Given the description of an element on the screen output the (x, y) to click on. 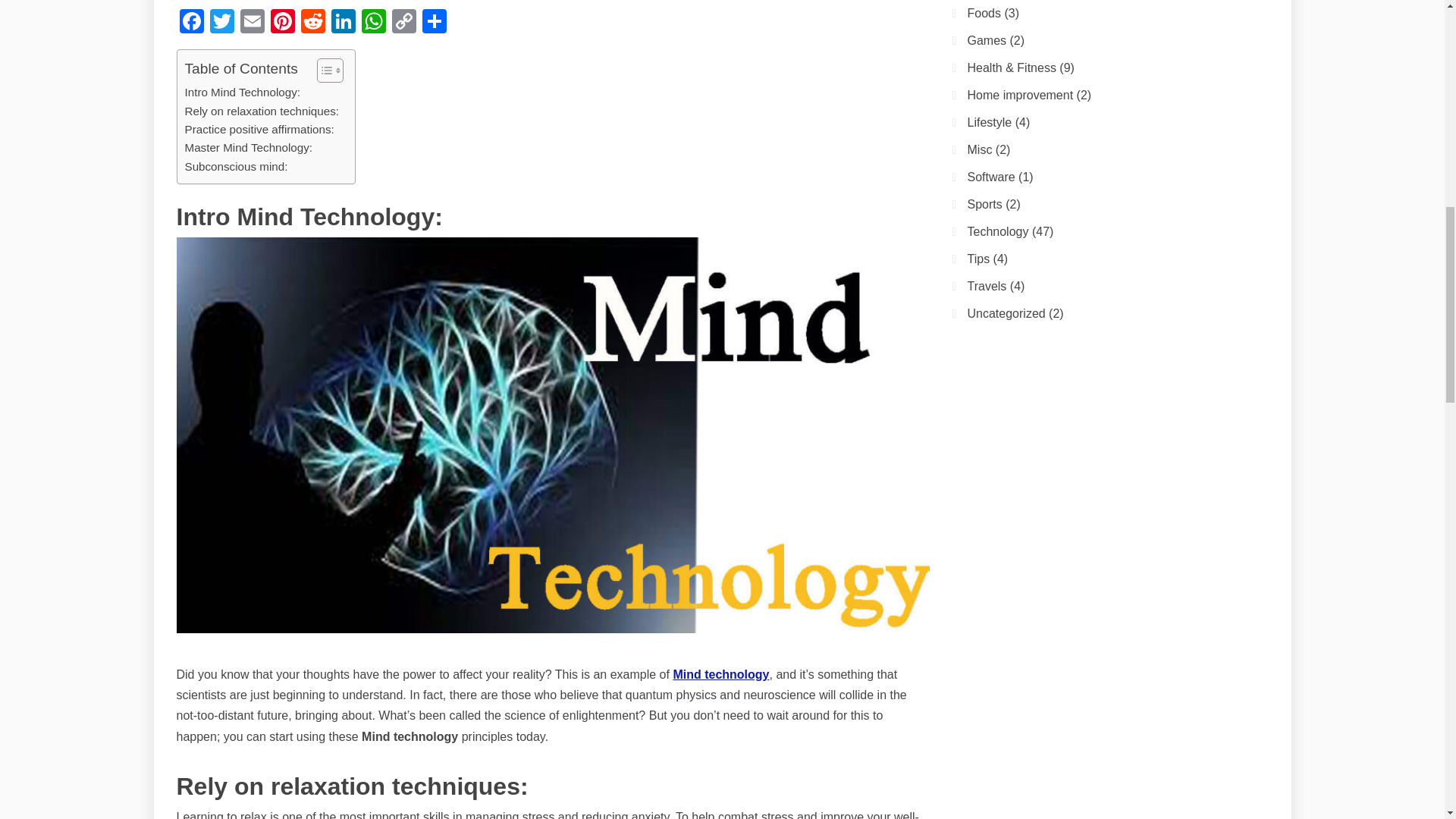
Subconscious mind: (236, 167)
Pinterest (281, 22)
Email (250, 22)
Reddit (312, 22)
Intro Mind Technology: (242, 92)
Email (250, 22)
Mind technology (720, 674)
Master Mind Technology: (248, 147)
Copy Link (403, 22)
Practice positive affirmations: (259, 129)
LinkedIn (342, 22)
Rely on relaxation techniques: (261, 111)
Intro Mind Technology: (242, 92)
WhatsApp (373, 22)
LinkedIn (342, 22)
